Given the description of an element on the screen output the (x, y) to click on. 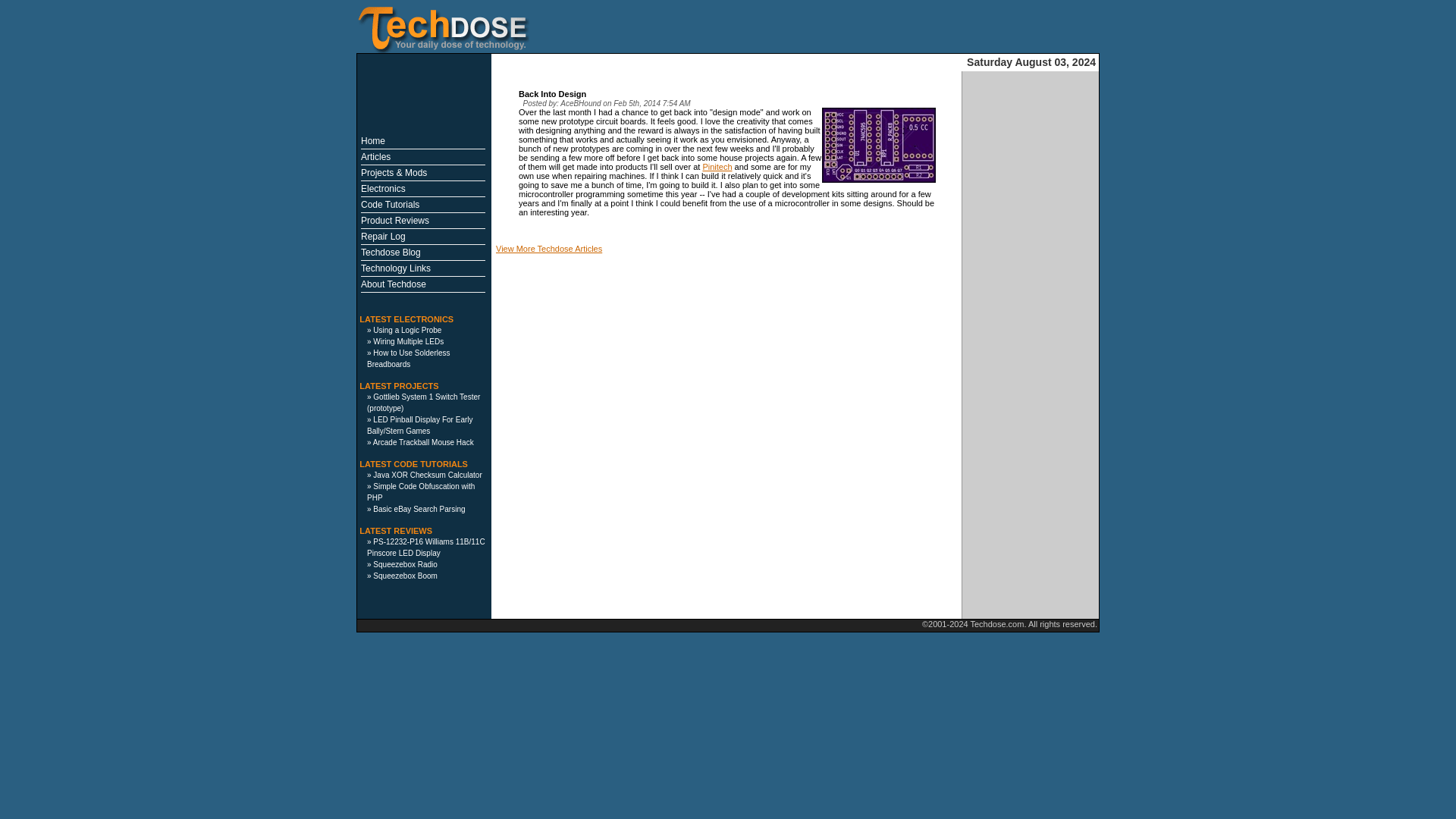
How to Use Solderless Breadboards (407, 358)
About Techdose (393, 284)
Technology Links (395, 267)
Home (373, 140)
Squeezebox Radio (405, 564)
Pinitech (716, 166)
Using a Logic Probe (406, 329)
Simple Code Obfuscation with PHP (420, 492)
Techdose Blog (390, 252)
Code Tutorials (390, 204)
Basic eBay Search Parsing (418, 509)
Wiring Multiple LEDs (408, 341)
Java XOR Checksum Calculator (426, 474)
View More Techdose Articles (549, 248)
Squeezebox Boom (405, 575)
